Given the description of an element on the screen output the (x, y) to click on. 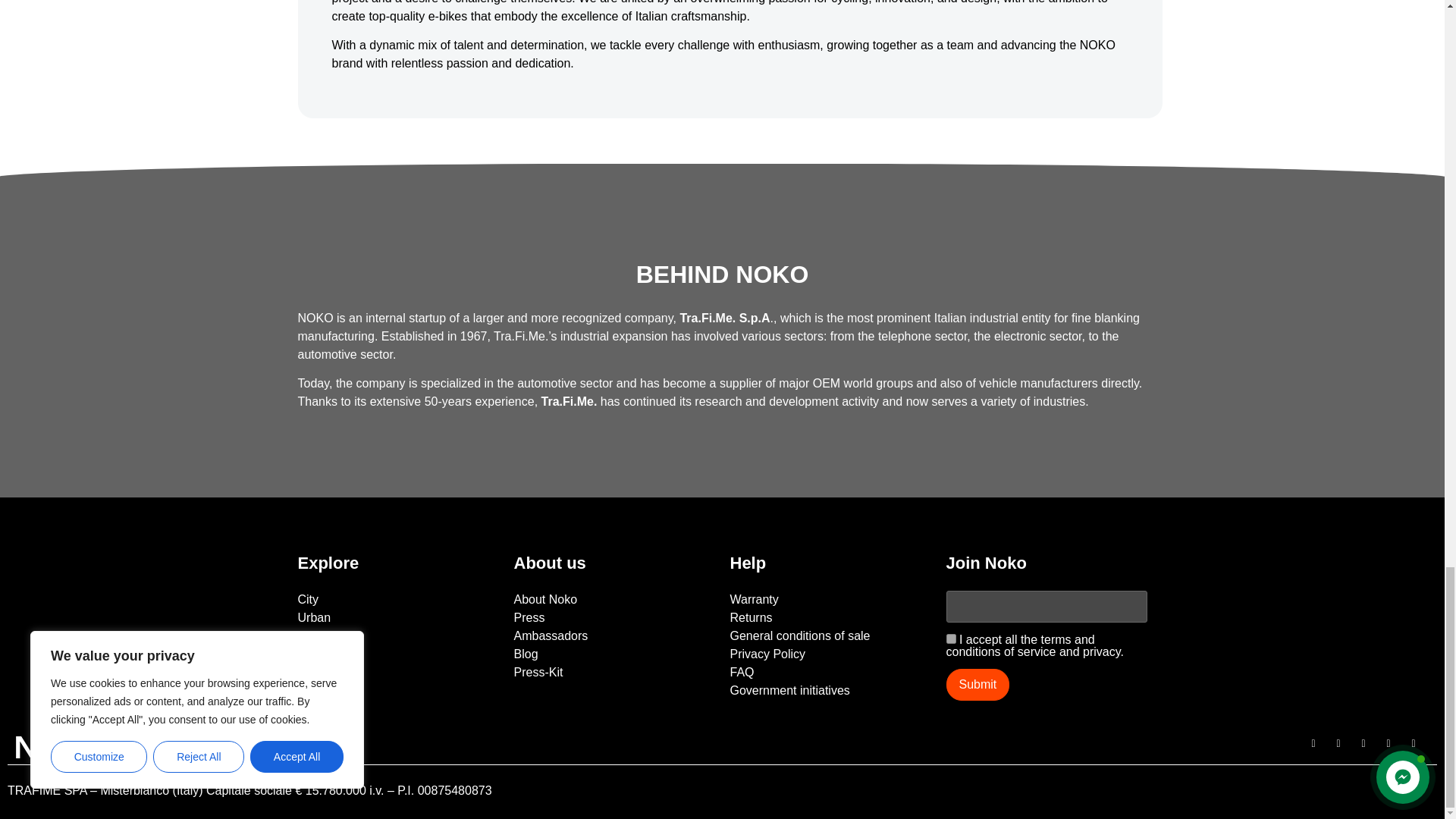
Submit (978, 685)
1 (951, 638)
